Given the description of an element on the screen output the (x, y) to click on. 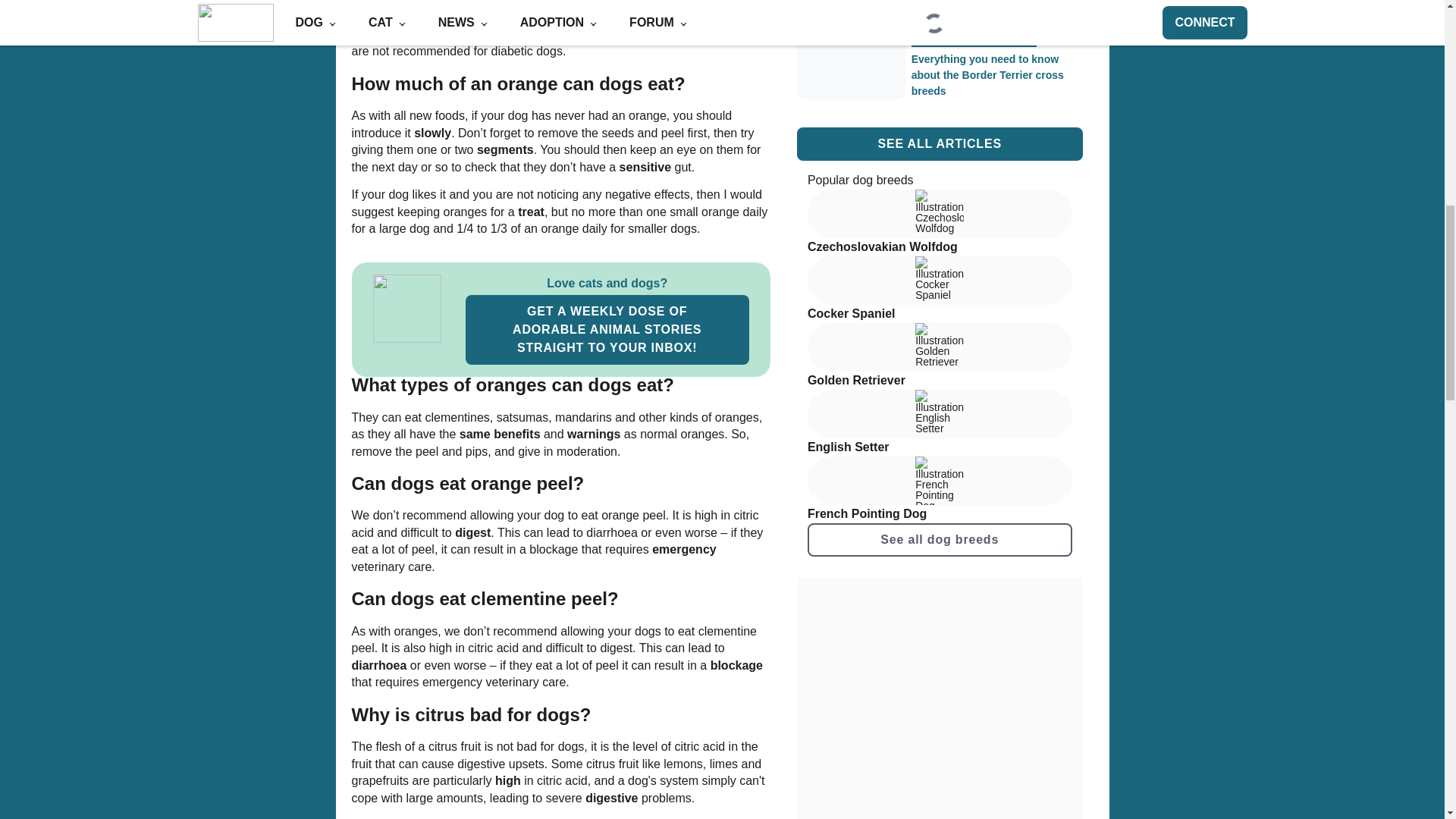
See the Golden Retriever breed sheet (939, 355)
See the Cocker Spaniel breed sheet (939, 289)
See the English Setter breed sheet (939, 422)
See the Czechoslovakian Wolfdog breed sheet (939, 222)
See all dog breeds (939, 539)
See the French Pointing Dog breed sheet (939, 489)
